Given the description of an element on the screen output the (x, y) to click on. 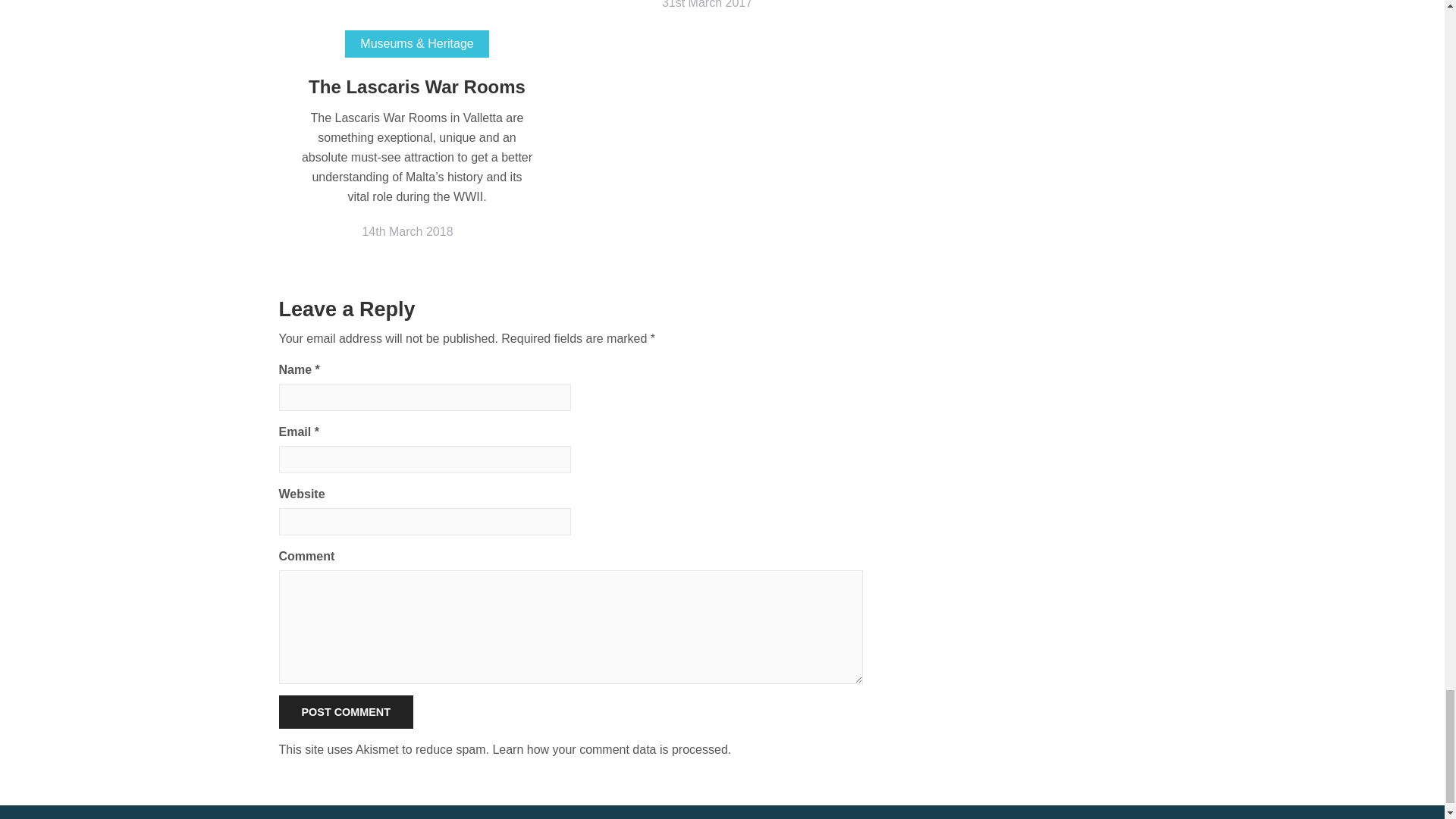
Post Comment (346, 712)
